Given the description of an element on the screen output the (x, y) to click on. 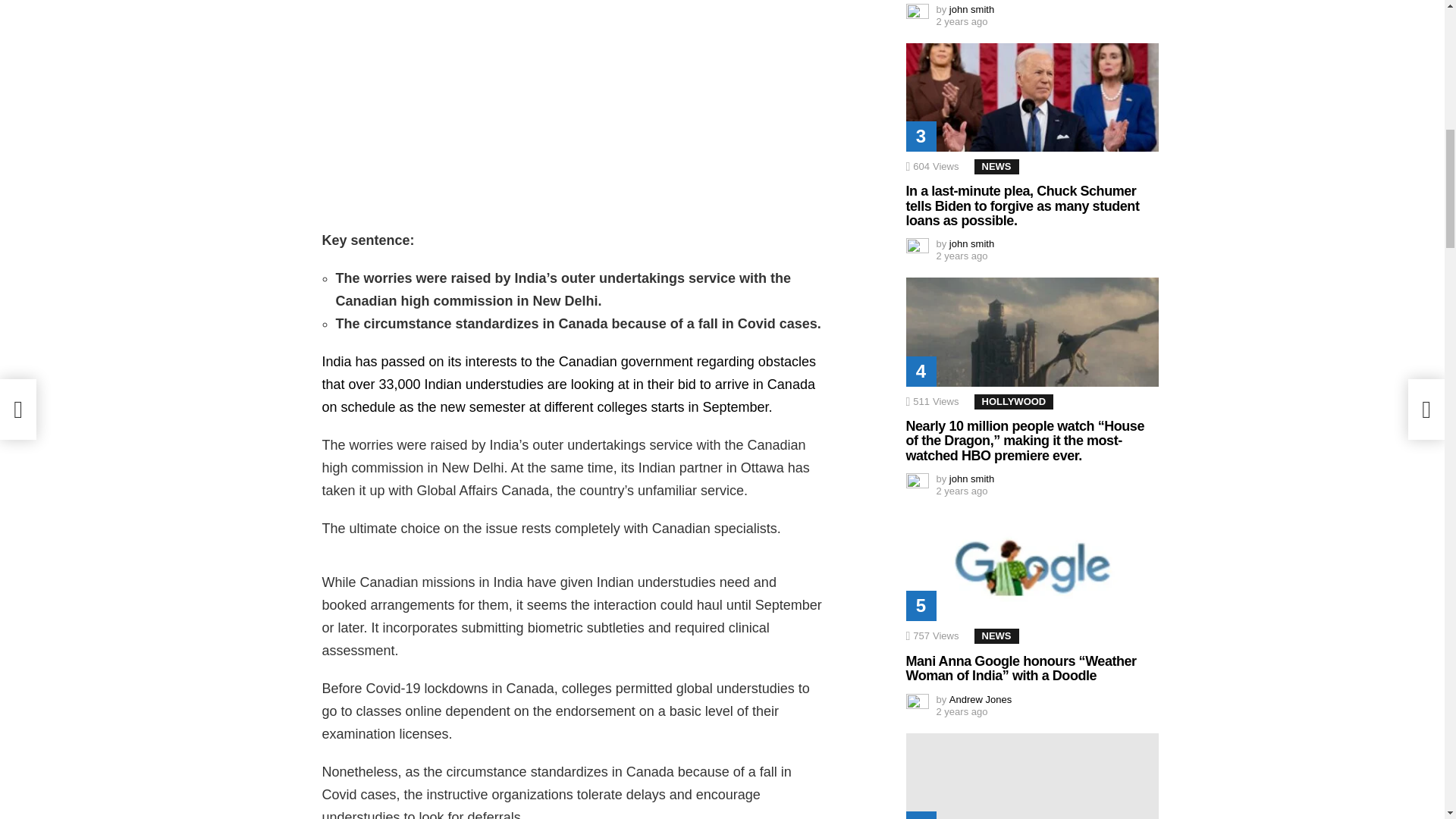
Advertisement (572, 106)
